Given the description of an element on the screen output the (x, y) to click on. 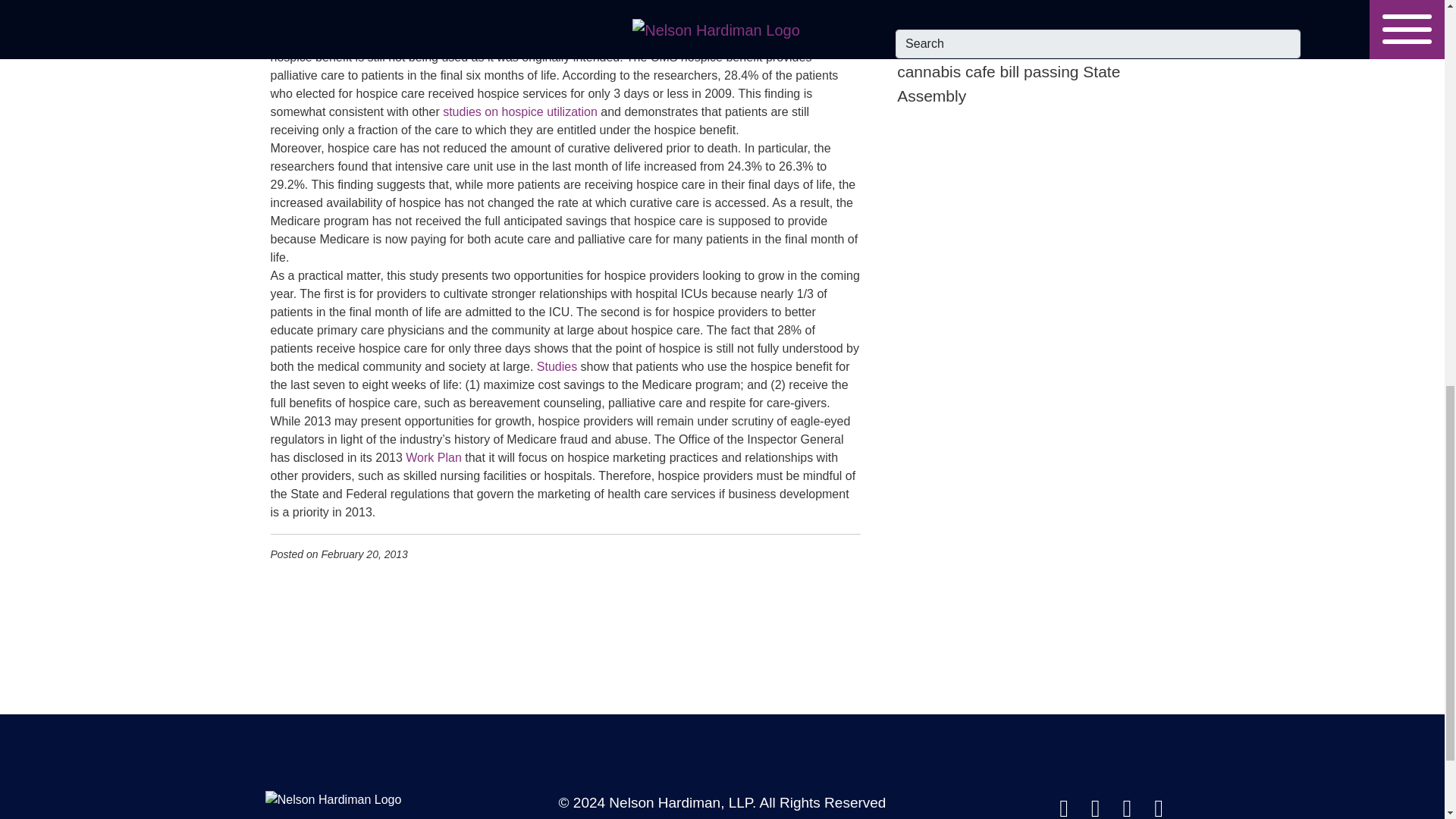
Studies (556, 366)
studies on hospice utilization (519, 111)
Work Plan (433, 457)
